Given the description of an element on the screen output the (x, y) to click on. 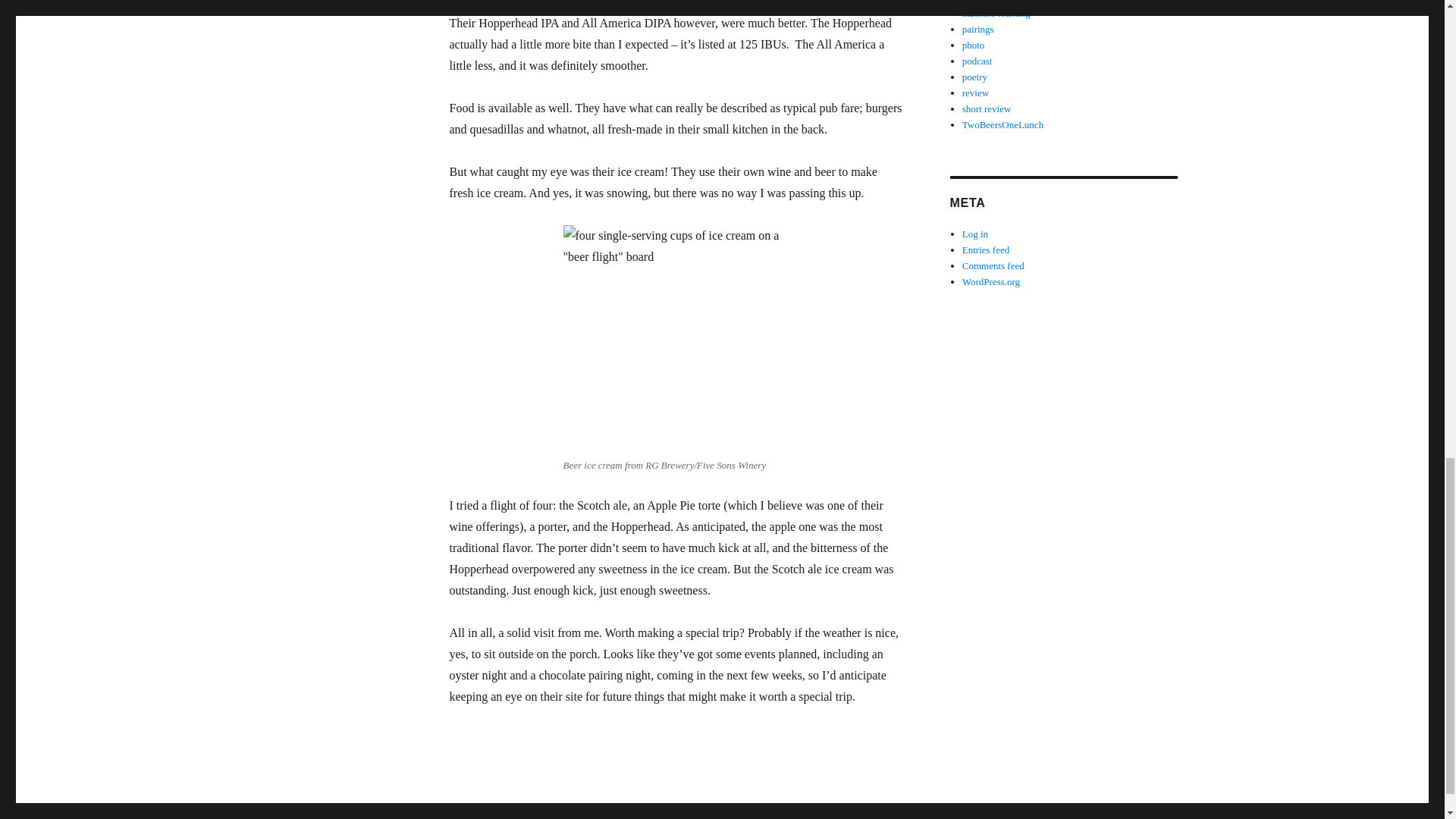
life (968, 1)
machine learning (996, 12)
pairings (978, 29)
